Given the description of an element on the screen output the (x, y) to click on. 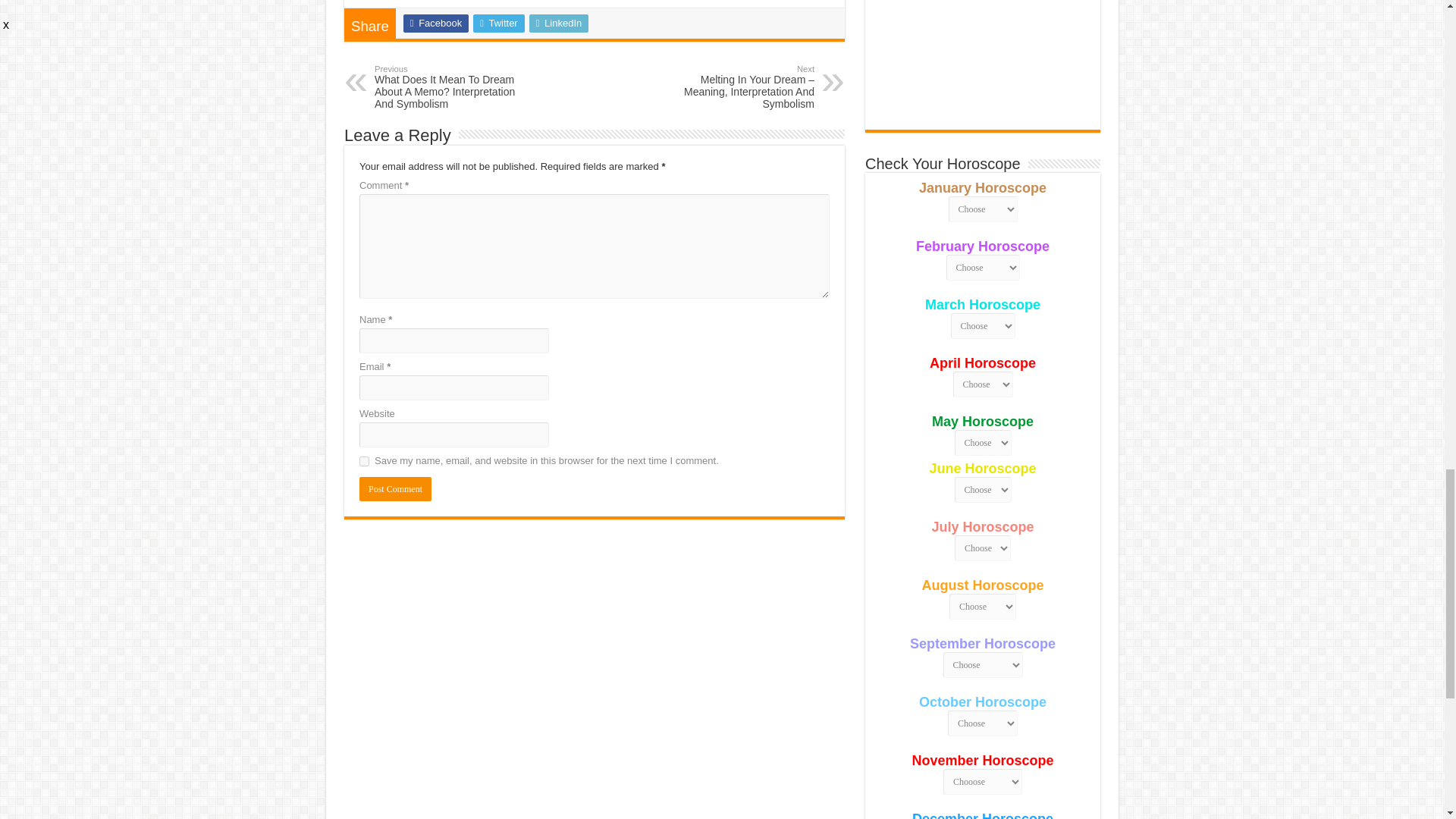
LinkedIn (559, 23)
Post Comment (394, 488)
yes (364, 461)
Twitter (498, 23)
Post Comment (394, 488)
Facebook (435, 23)
